Given the description of an element on the screen output the (x, y) to click on. 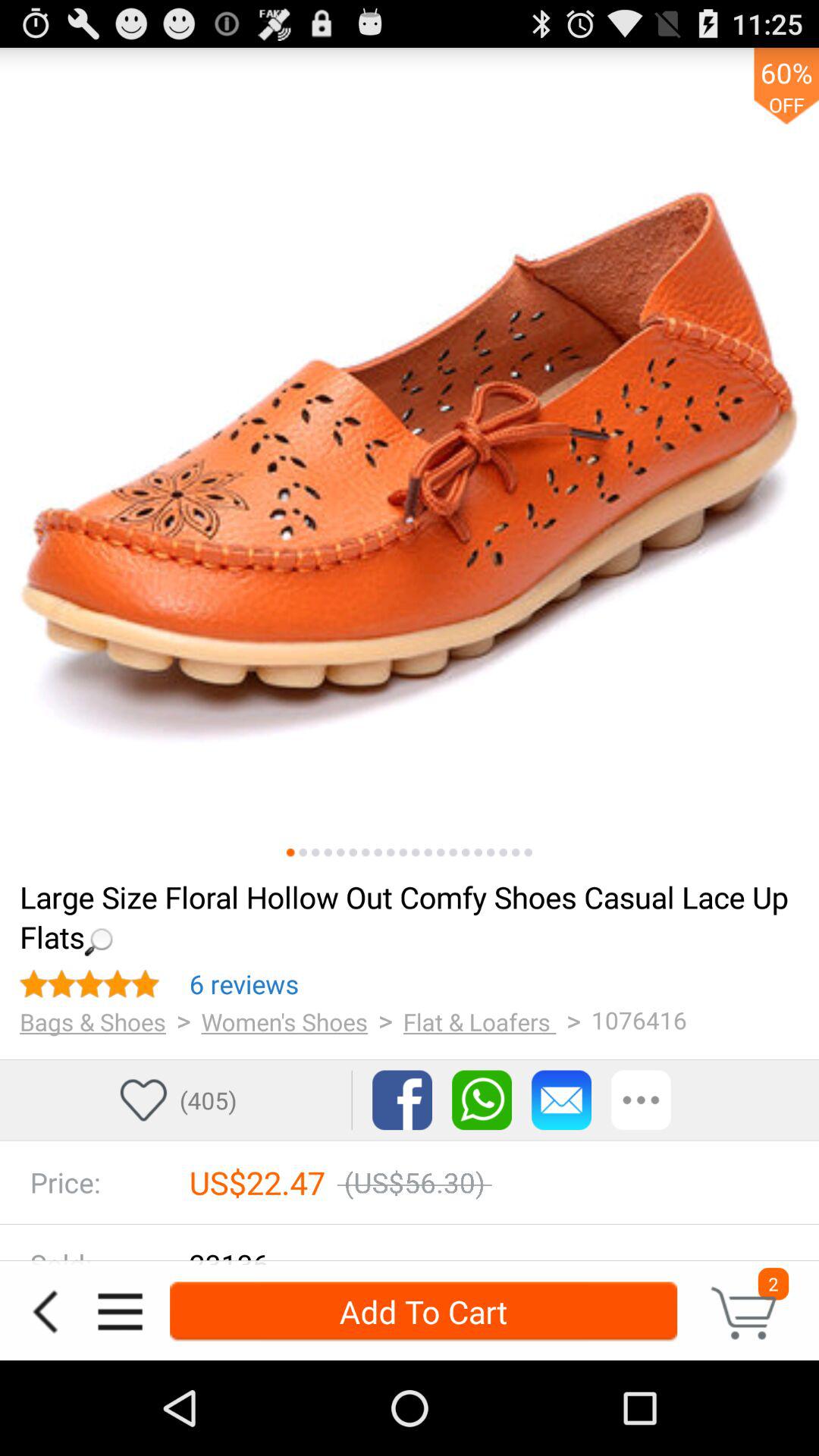
view image 5 (340, 852)
